Given the description of an element on the screen output the (x, y) to click on. 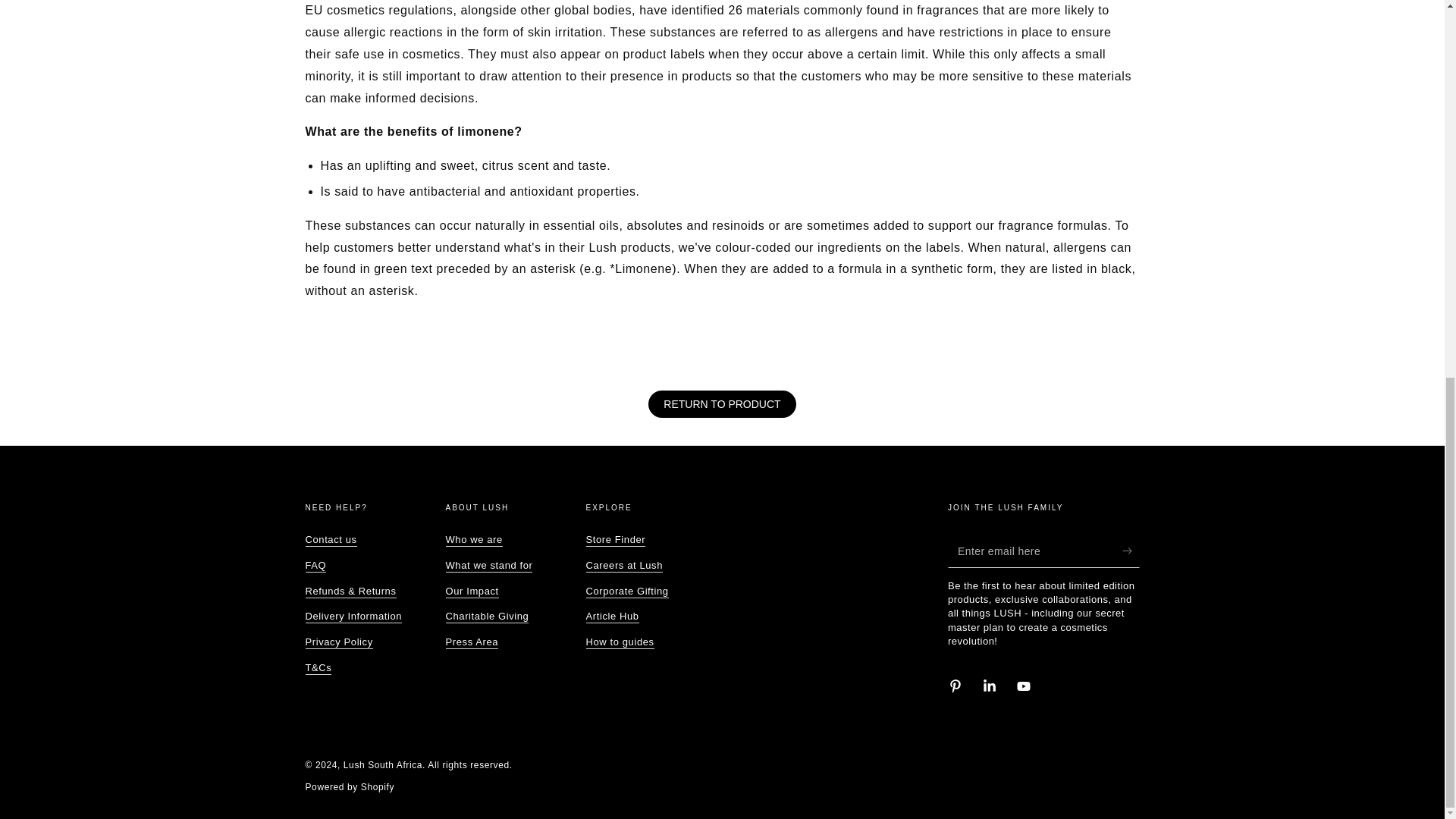
FAQ (315, 565)
Terms and Conditions (317, 667)
Corporate Gifting (626, 591)
Privacy Policy (338, 642)
Delivery Information (352, 616)
Contact (330, 540)
Find a store (615, 540)
